Given the description of an element on the screen output the (x, y) to click on. 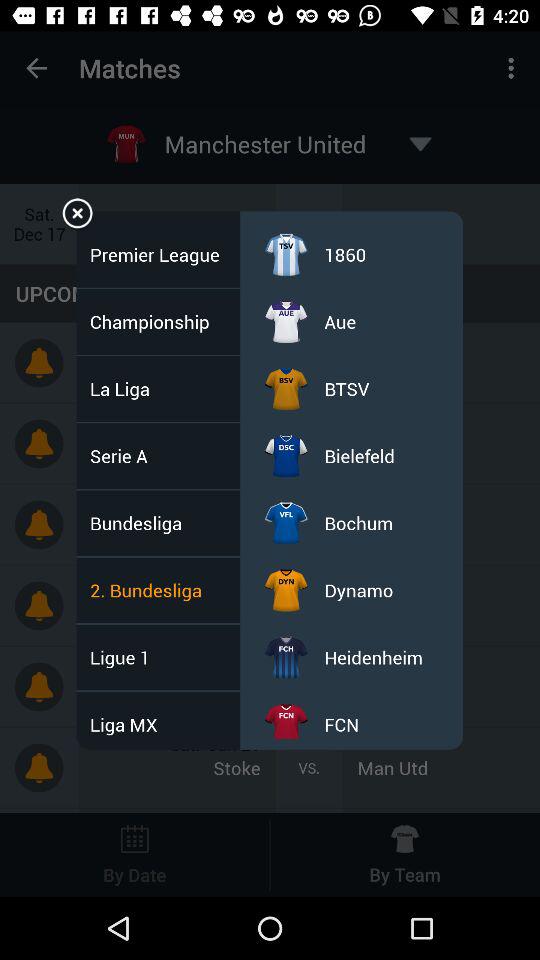
click the fcn (341, 724)
